Given the description of an element on the screen output the (x, y) to click on. 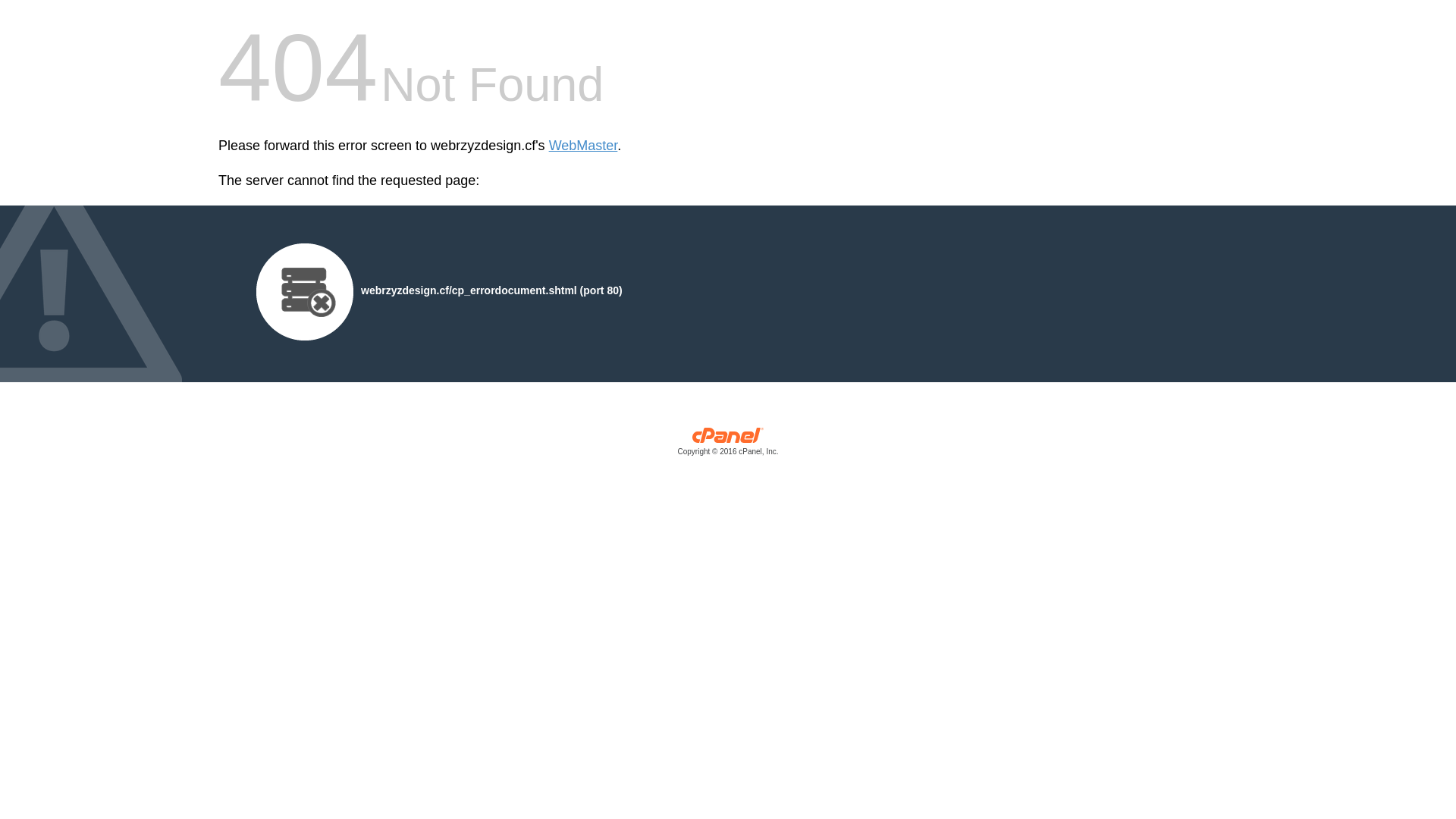
WebMaster Element type: text (583, 145)
